Given the description of an element on the screen output the (x, y) to click on. 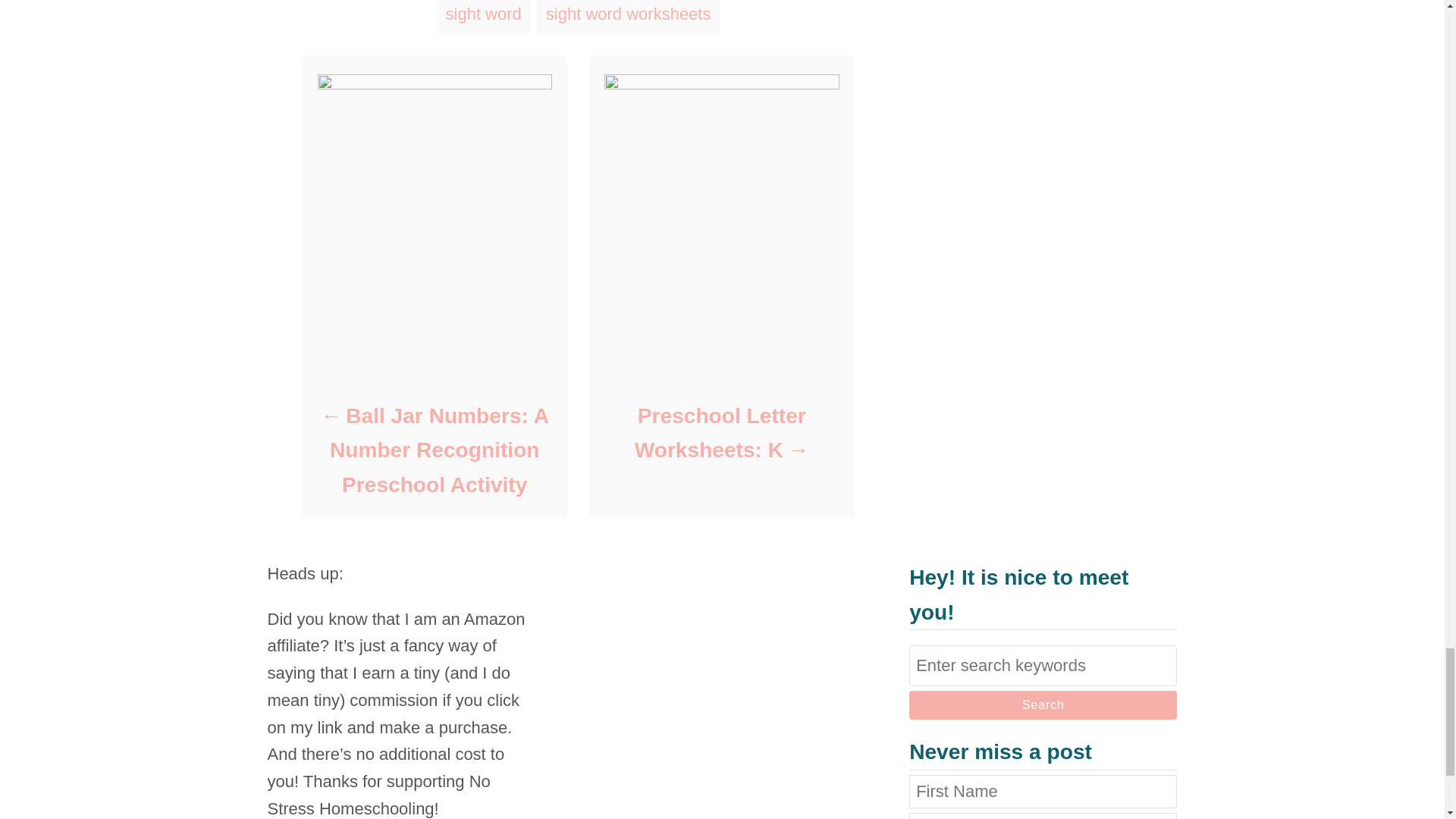
Search for: (1042, 665)
Search (1042, 705)
Search (1042, 705)
